Given the description of an element on the screen output the (x, y) to click on. 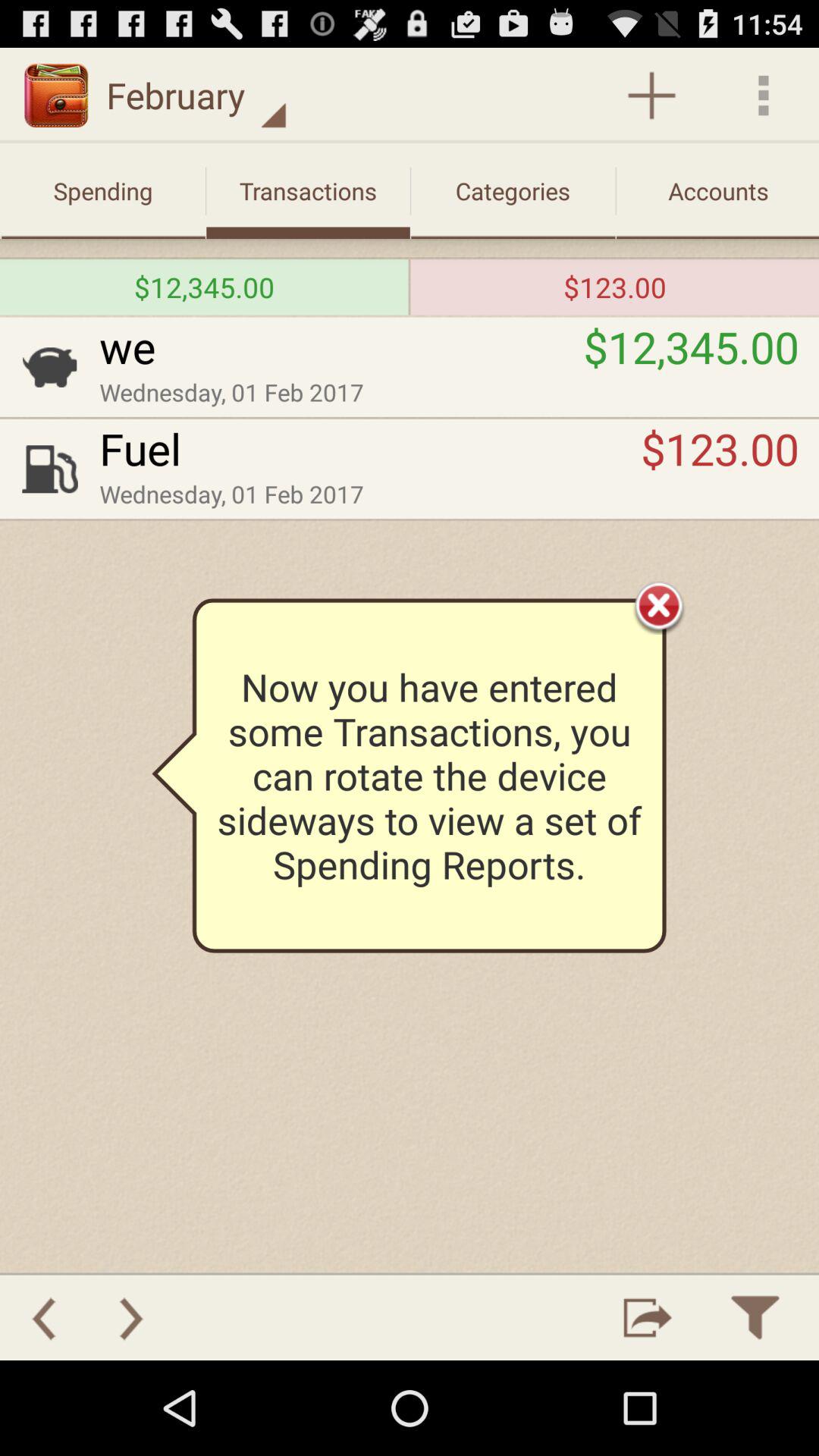
press icon to the right of $12,345.00 app (409, 287)
